Given the description of an element on the screen output the (x, y) to click on. 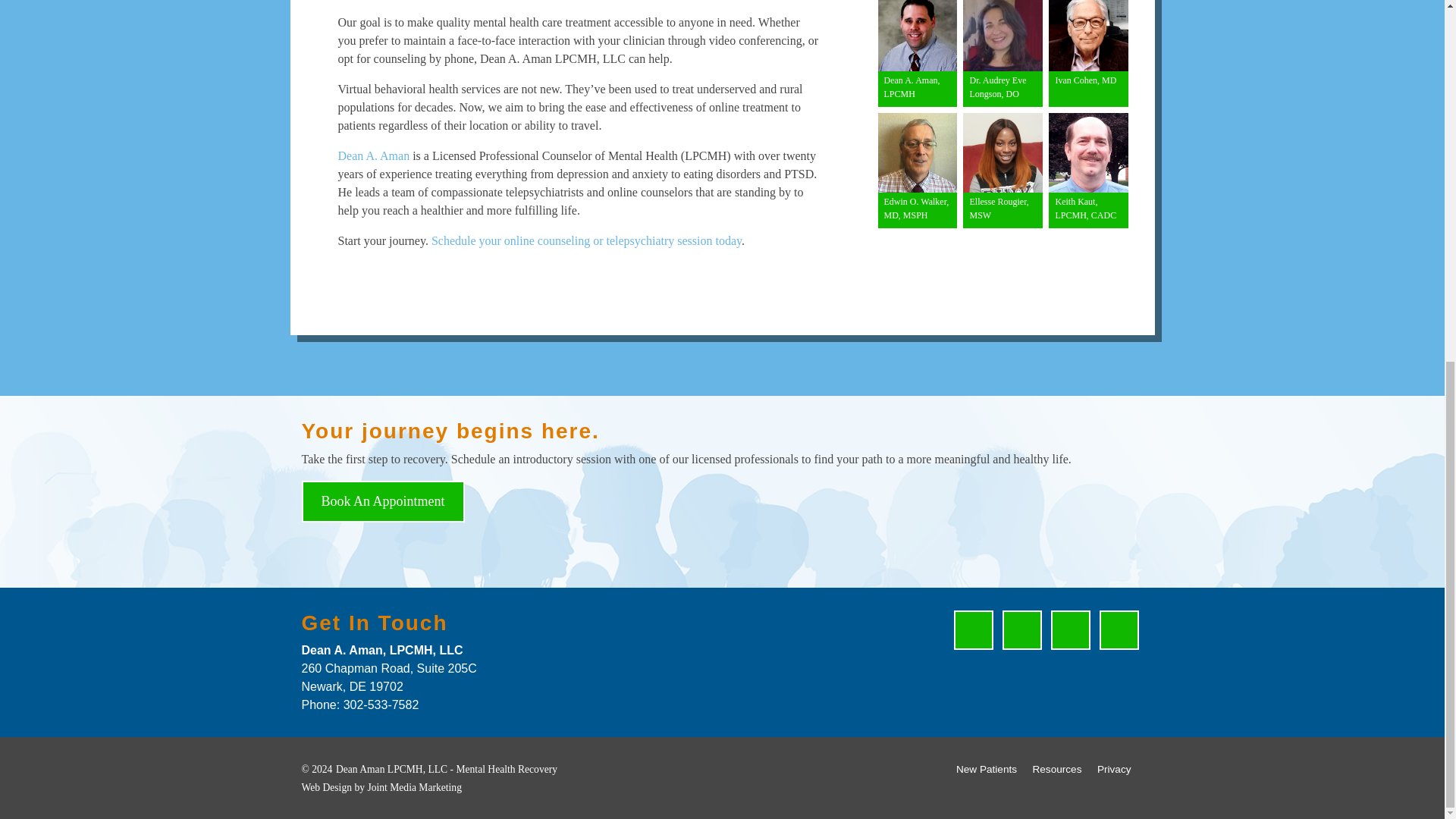
Dean A. Aman (373, 155)
